Given the description of an element on the screen output the (x, y) to click on. 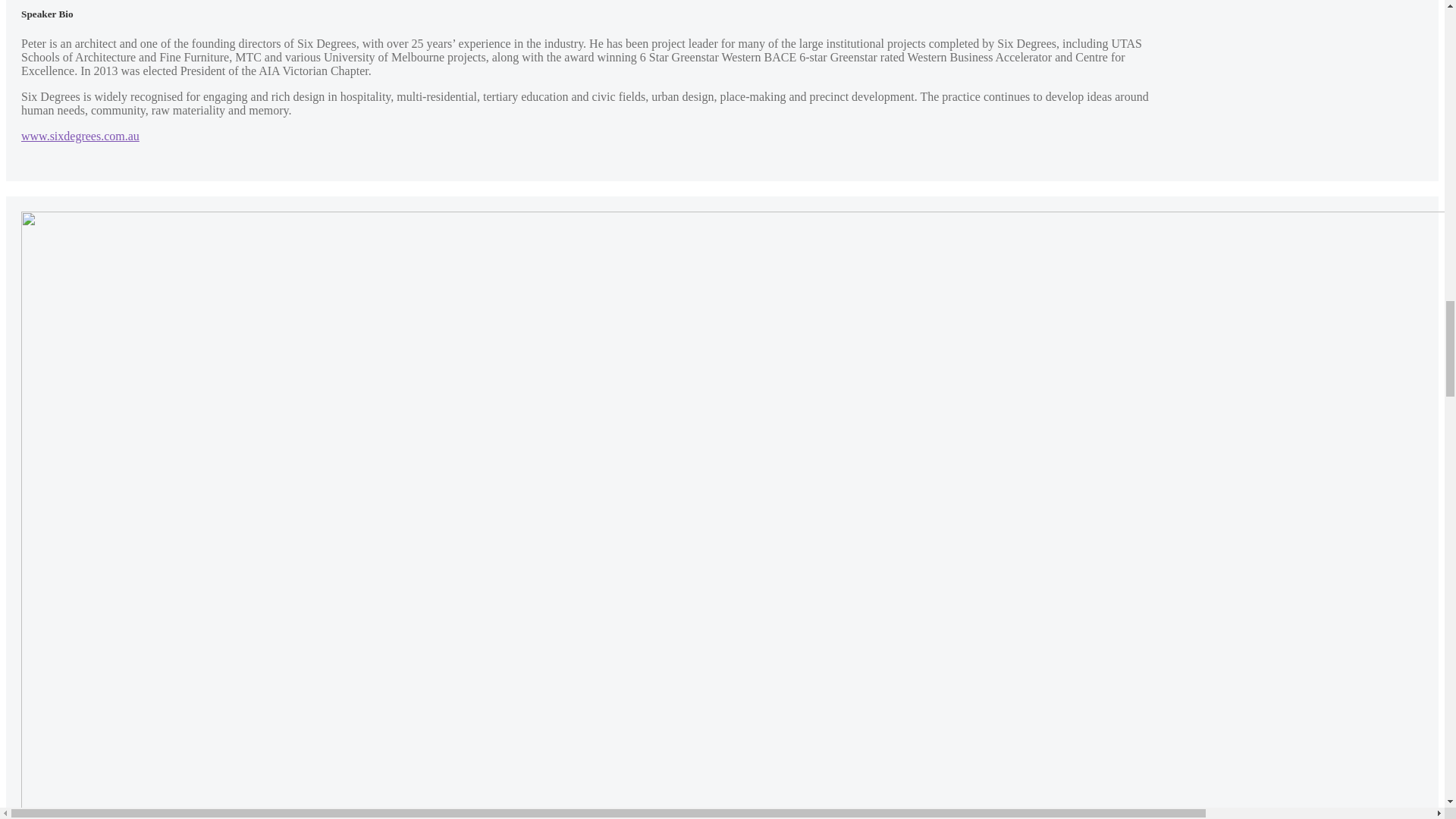
www.sixdegrees.com.au (80, 135)
